Given the description of an element on the screen output the (x, y) to click on. 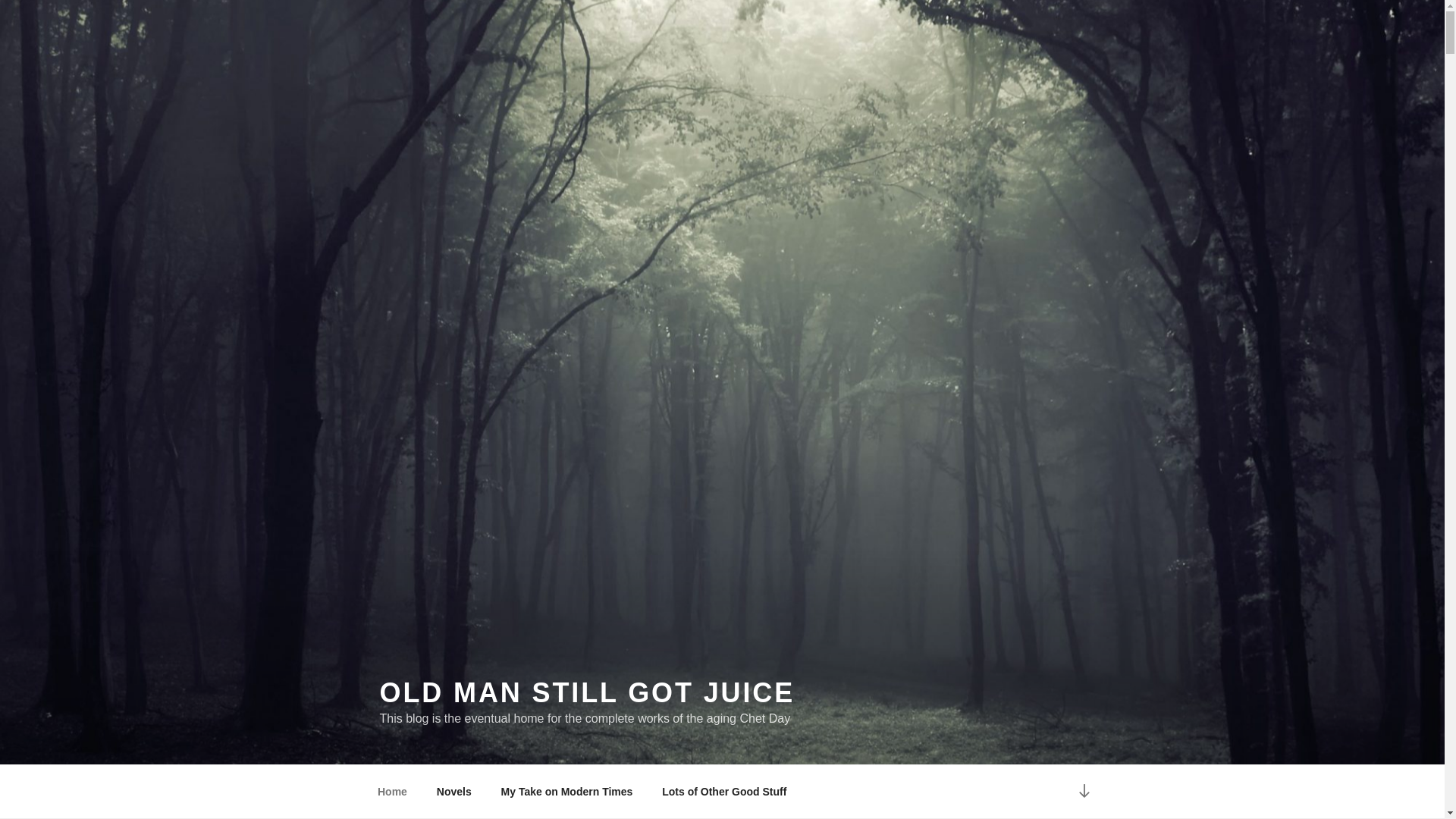
Novels (453, 791)
Lots of Other Good Stuff (724, 791)
My Take on Modern Times (566, 791)
Scroll down to content (1082, 791)
OLD MAN STILL GOT JUICE (586, 692)
Scroll down to content (1082, 791)
Home (392, 791)
